Given the description of an element on the screen output the (x, y) to click on. 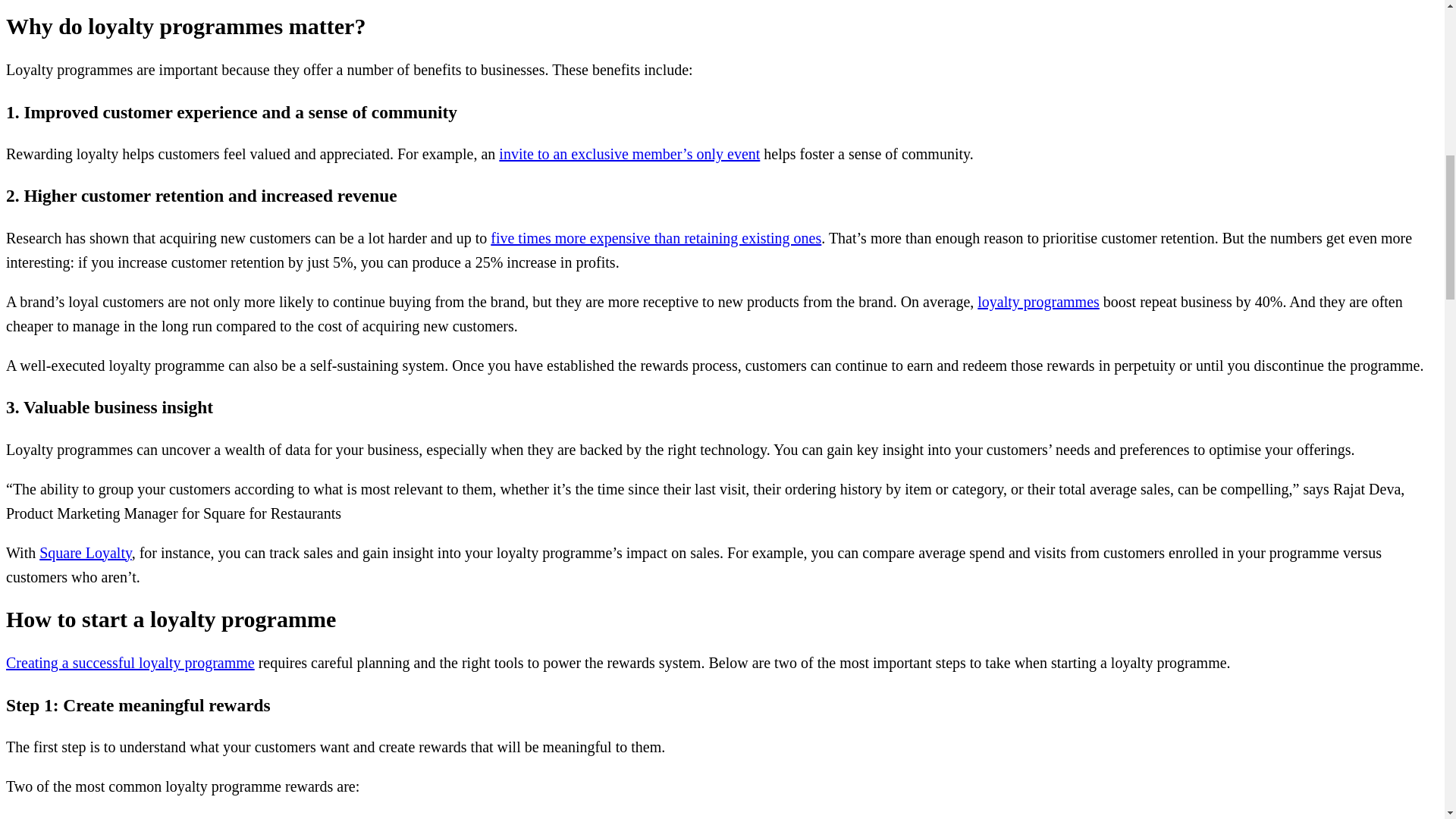
Creating a successful loyalty programme (129, 662)
loyalty programmes (1037, 301)
five times more expensive than retaining existing ones (655, 238)
Square Loyalty (85, 552)
